Given the description of an element on the screen output the (x, y) to click on. 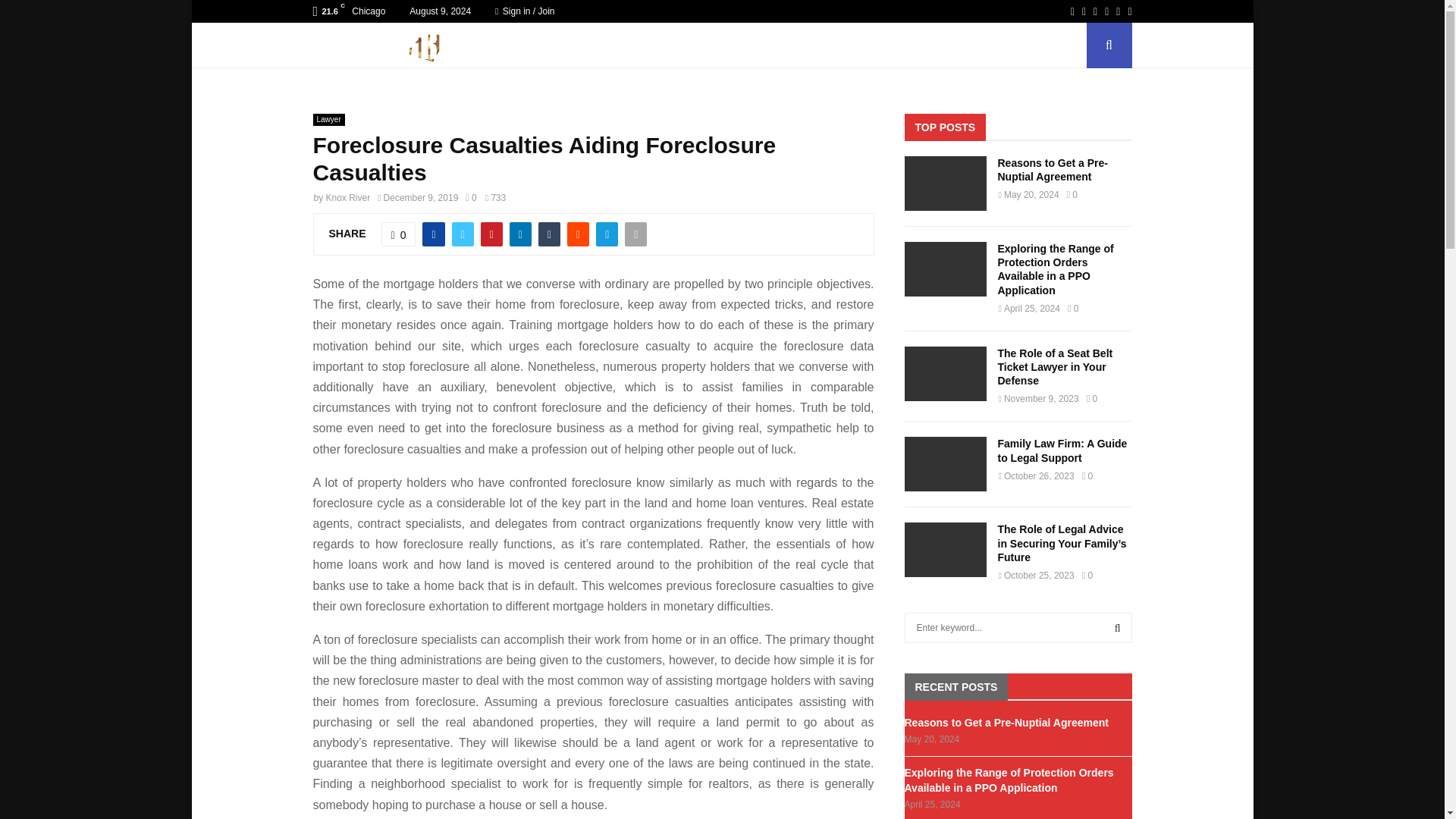
Login to your account (722, 293)
Knox River (348, 197)
LAWYER (868, 44)
0 (470, 197)
ATTORNEY (637, 44)
0 (398, 233)
Like (398, 233)
WAGNER LAW GRP (536, 44)
LEGAL SERVICE (961, 44)
Sign up new account (722, 527)
